Given the description of an element on the screen output the (x, y) to click on. 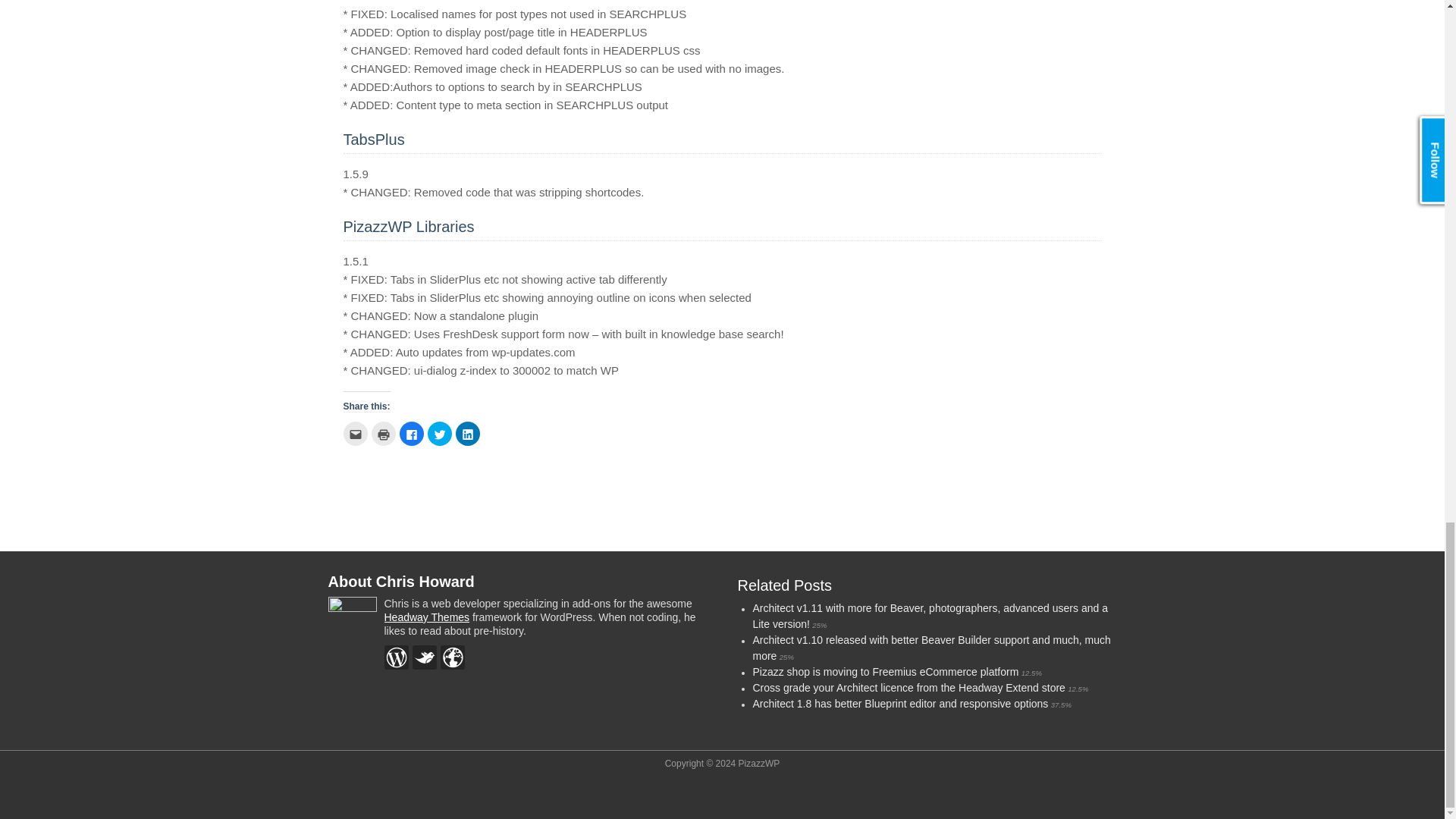
Pizazz shop is moving to Freemius eCommerce platform (884, 671)
Click to share on LinkedIn (466, 433)
Visit the website of the author (451, 657)
Click to print (383, 433)
Visit the twitter page of the author (424, 657)
View other posts by the author (395, 657)
Headway Themes (426, 616)
Click to share on Twitter (439, 433)
